Given the description of an element on the screen output the (x, y) to click on. 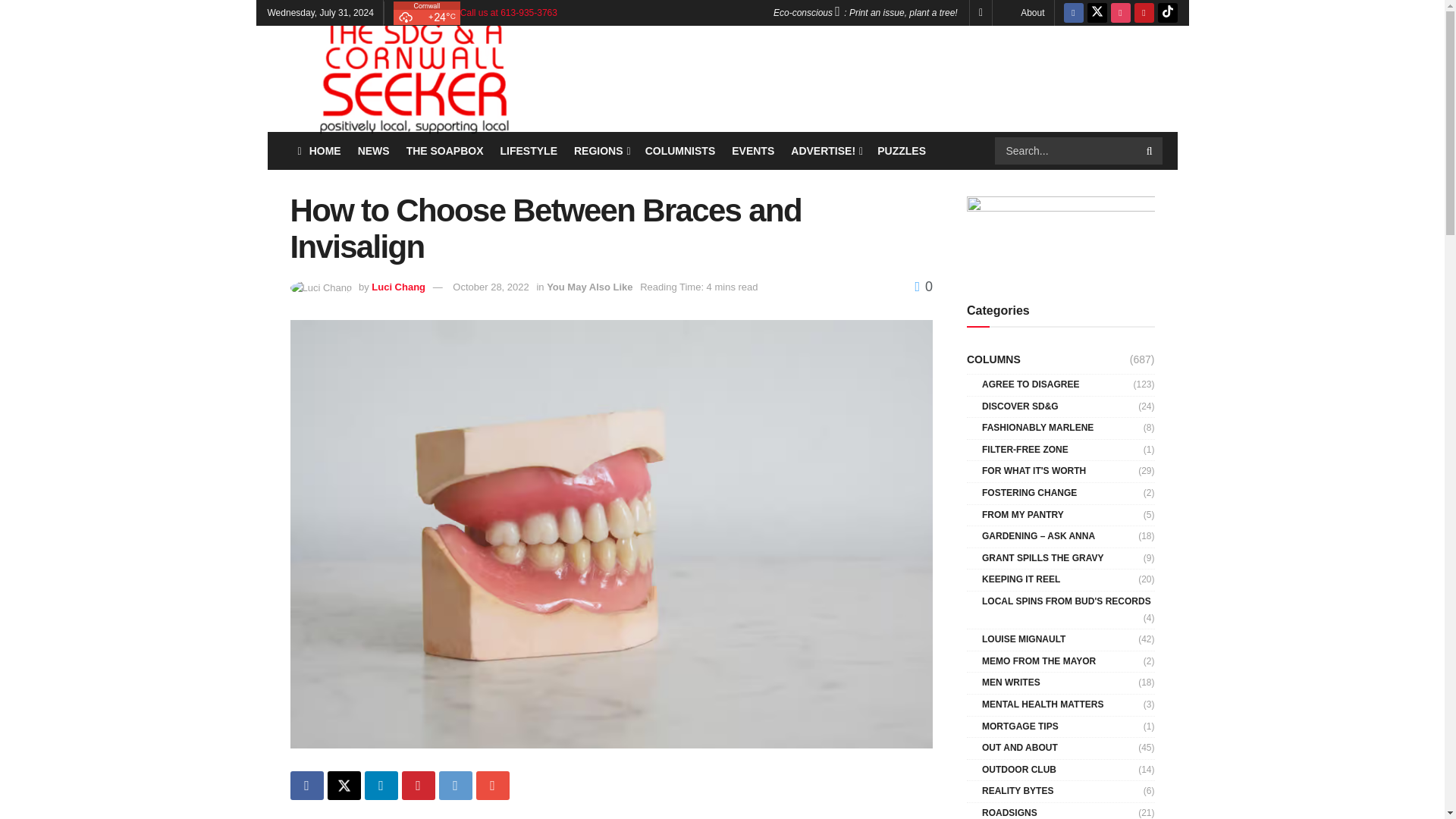
Call us at 613-935-3763 (508, 12)
About (1031, 12)
HOME (318, 150)
THE SOAPBOX (444, 150)
REGIONS (600, 150)
NEWS (374, 150)
COLUMNISTS (680, 150)
PUZZLES (901, 150)
EVENTS (753, 150)
ADVERTISE! (825, 150)
LIFESTYLE (528, 150)
